Given the description of an element on the screen output the (x, y) to click on. 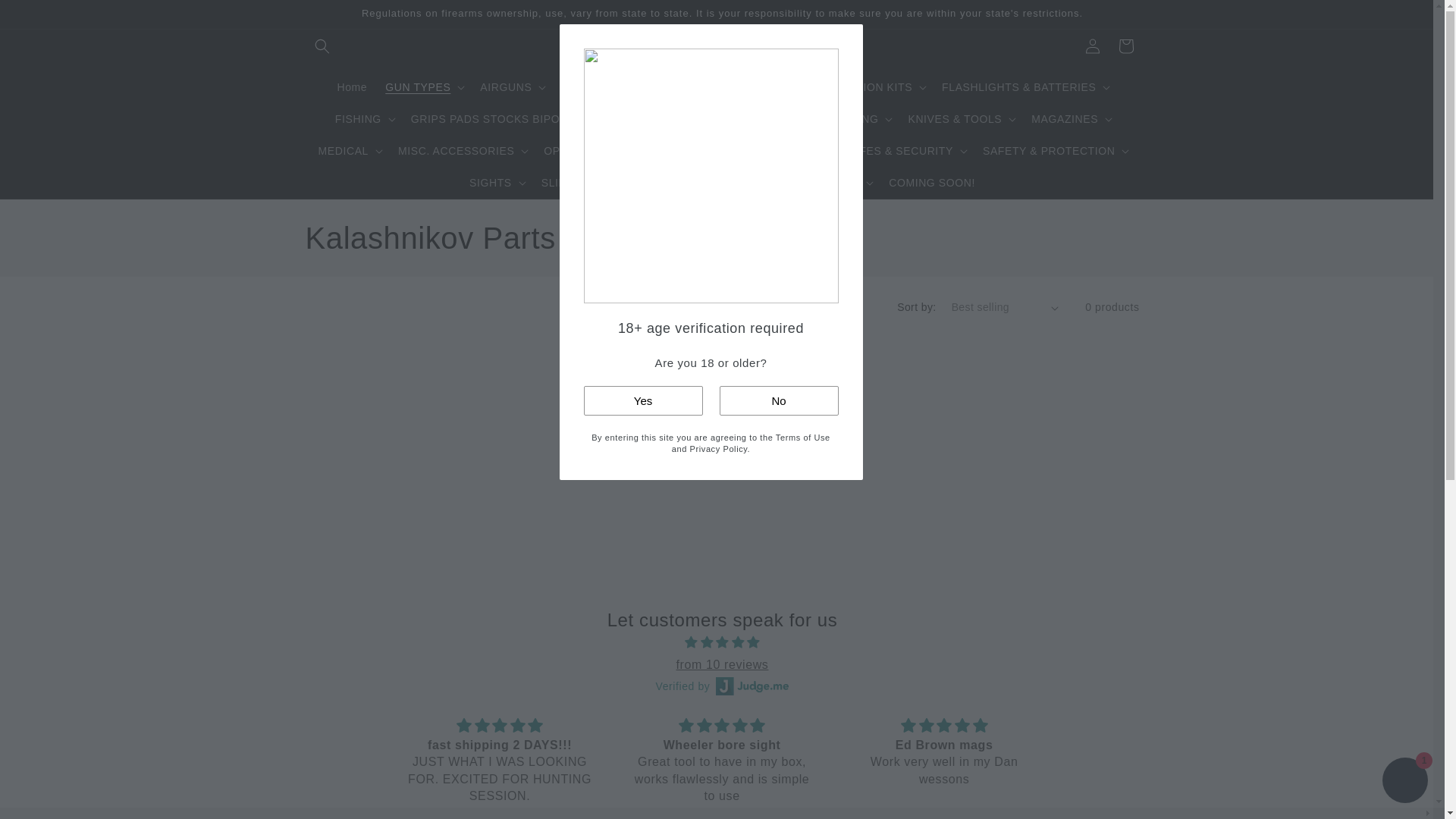
Skip to content (45, 17)
Yes (643, 400)
No (778, 400)
Yes (643, 400)
No (778, 400)
Shopify online store chat (1404, 781)
